Given the description of an element on the screen output the (x, y) to click on. 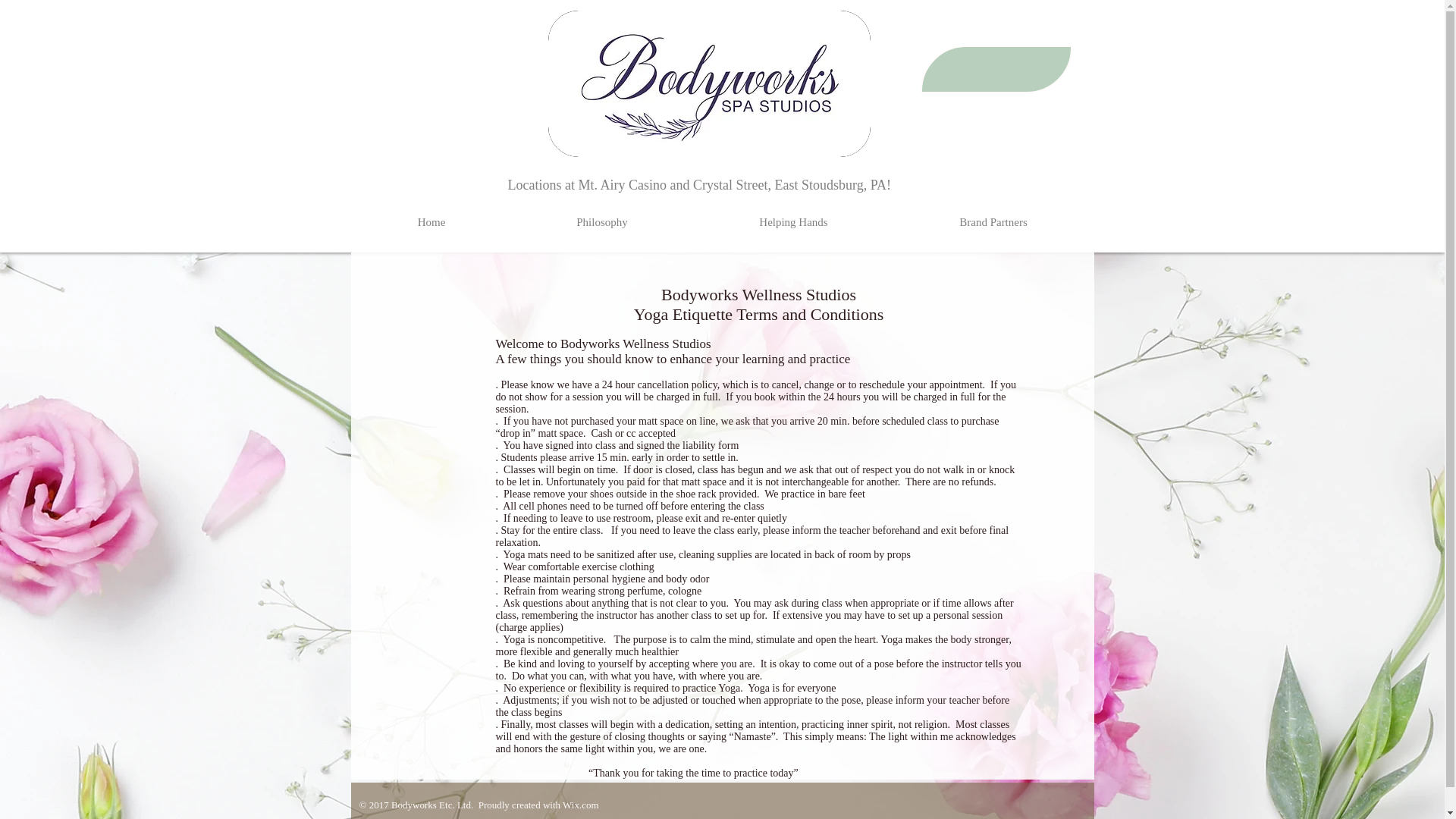
Philosophy (602, 221)
Home (431, 221)
Wix.com (580, 804)
Brand Partners (992, 221)
Helping Hands (793, 221)
